Given the description of an element on the screen output the (x, y) to click on. 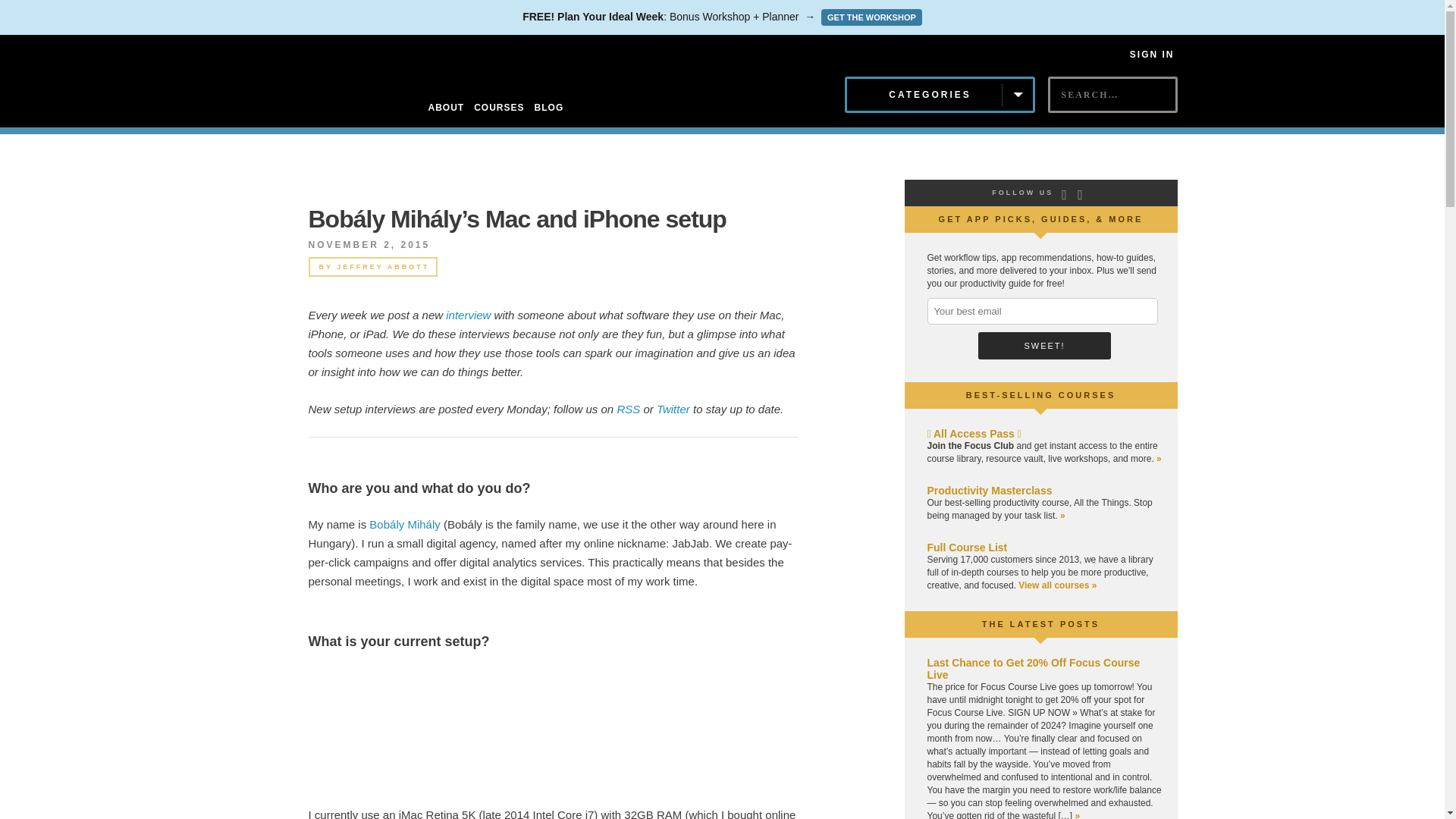
ABOUT (446, 107)
RSS (627, 408)
GET THE WORKSHOP (871, 17)
Sweet! (1044, 345)
interview (467, 314)
CATEGORIES (939, 94)
COURSES (499, 107)
Twitter (673, 408)
SIGN IN (1151, 53)
BLOG (549, 107)
